Given the description of an element on the screen output the (x, y) to click on. 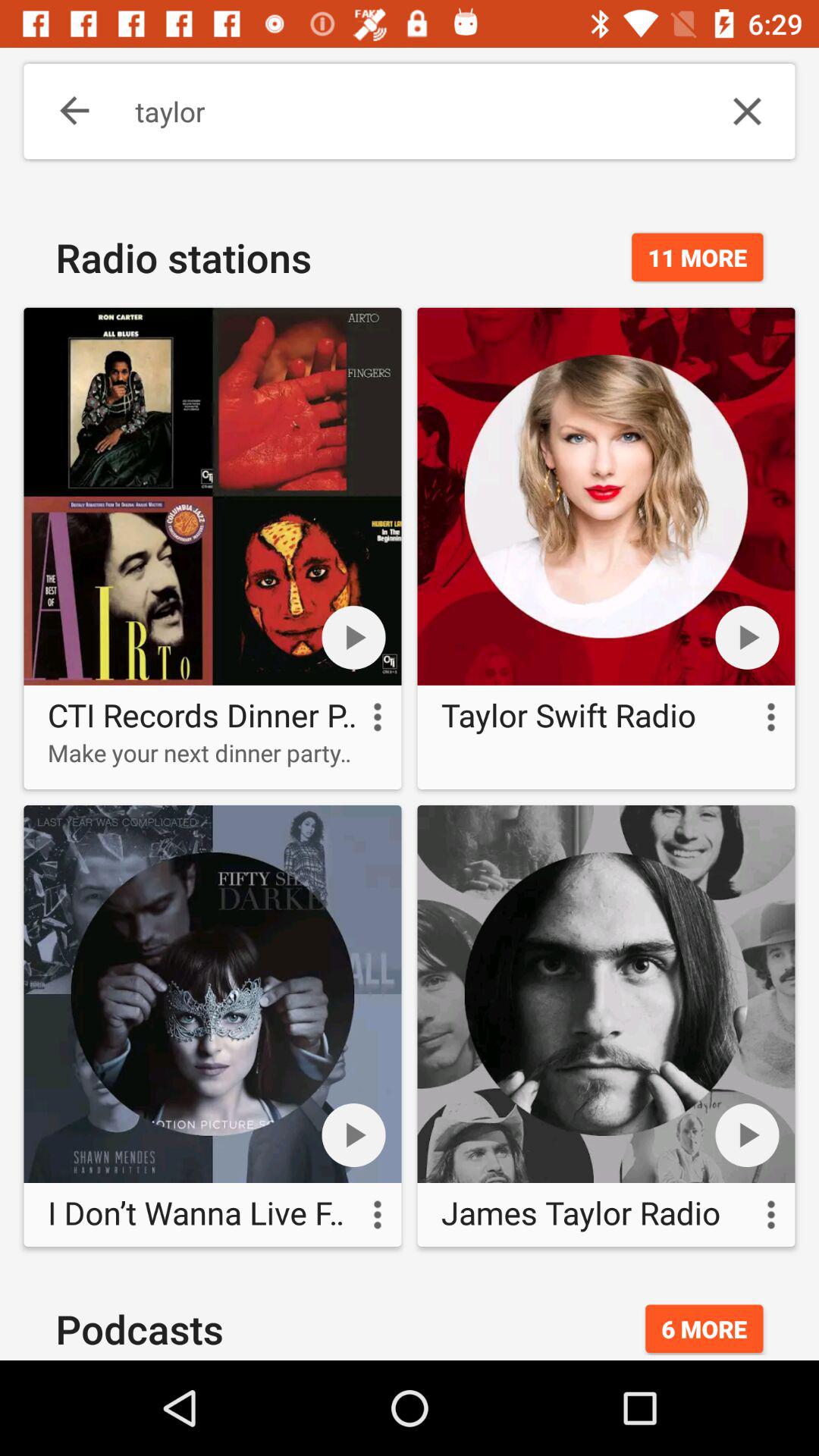
jump until 11 more icon (697, 257)
